Given the description of an element on the screen output the (x, y) to click on. 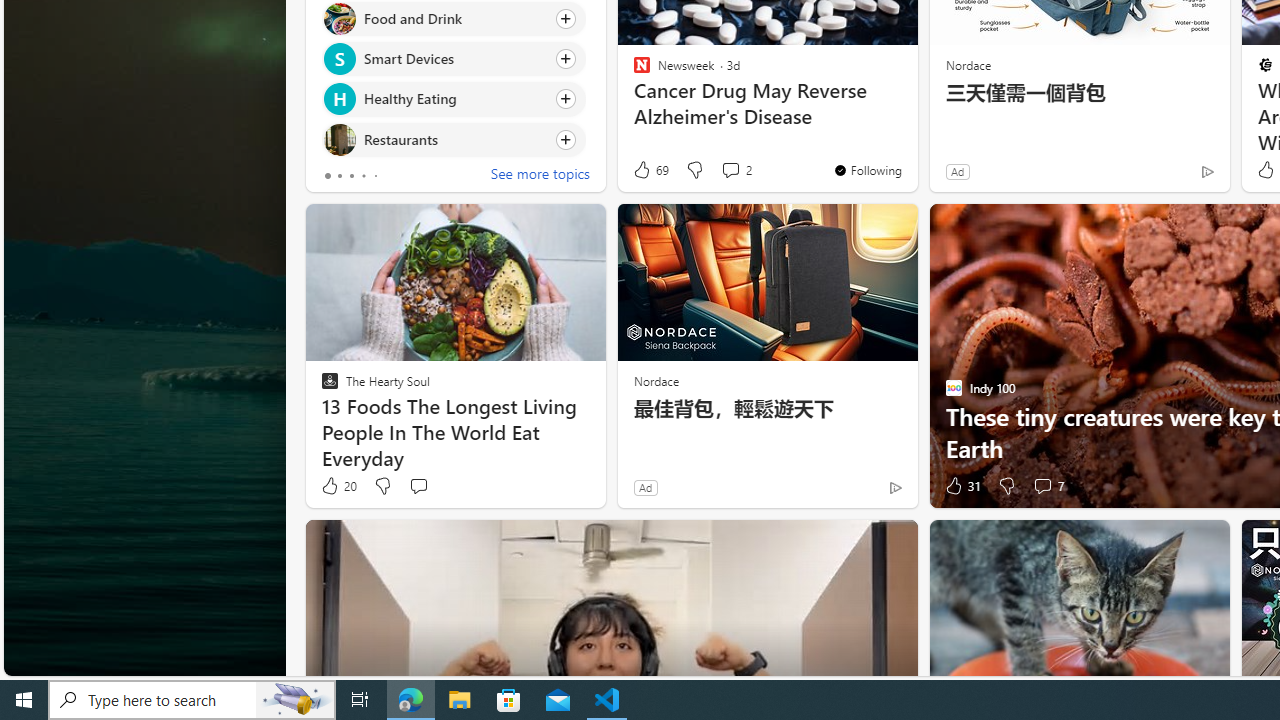
31 Like (961, 485)
Click to follow topic Smart Devices (453, 59)
69 Like (650, 170)
20 Like (337, 485)
Restaurants (338, 139)
View comments 7 Comment (1048, 485)
Click to follow topic Healthy Eating (453, 99)
Click to follow topic Restaurants (453, 138)
Food and Drink (338, 18)
